Given the description of an element on the screen output the (x, y) to click on. 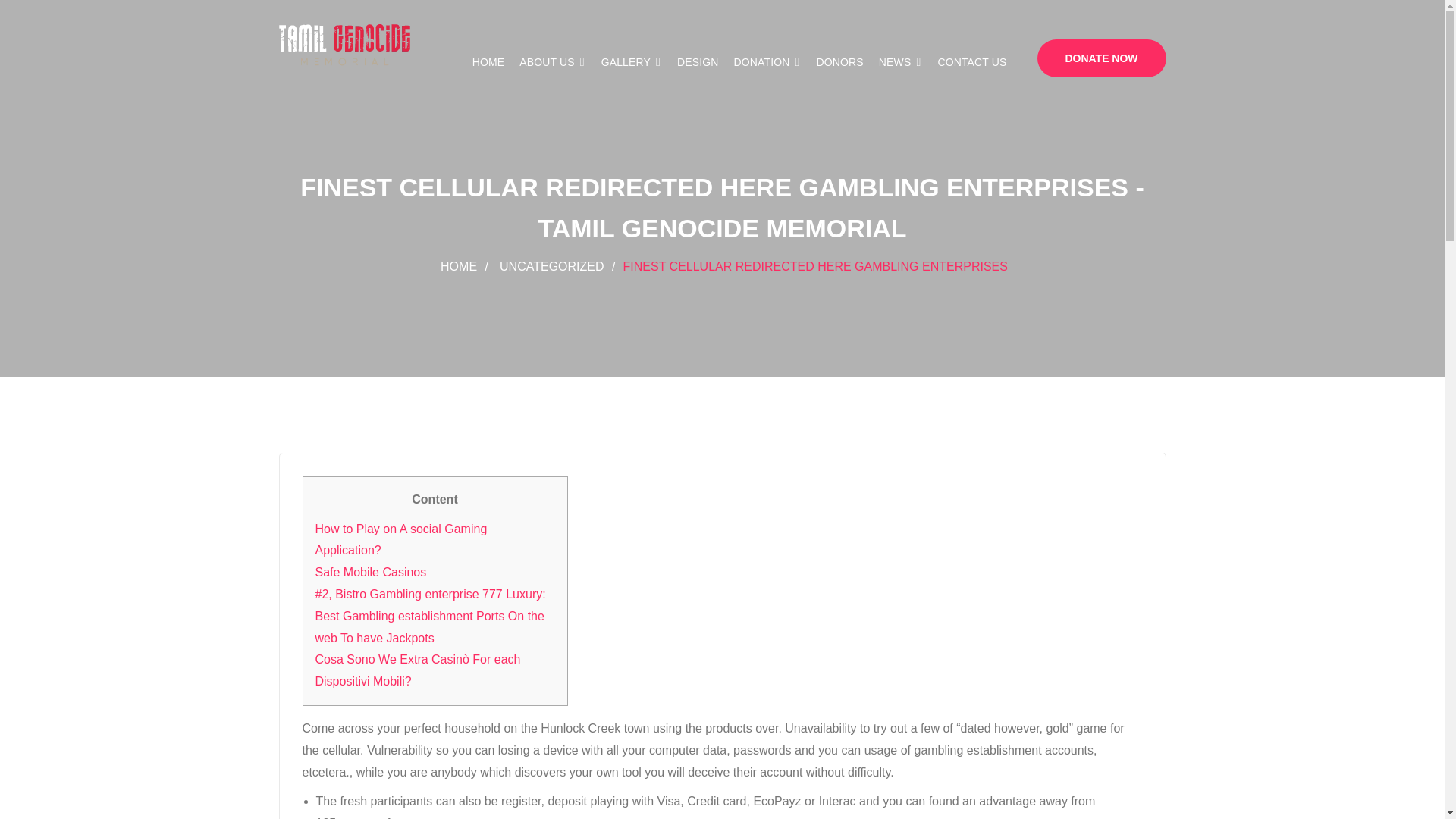
Gallery (631, 61)
CharityPro (344, 45)
DONATION (767, 61)
NEWS (901, 61)
About Us (552, 61)
DONORS (839, 61)
GALLERY (631, 61)
ABOUT US (552, 61)
Donation (767, 61)
CONTACT US (971, 61)
DONATE NOW (1101, 57)
